Given the description of an element on the screen output the (x, y) to click on. 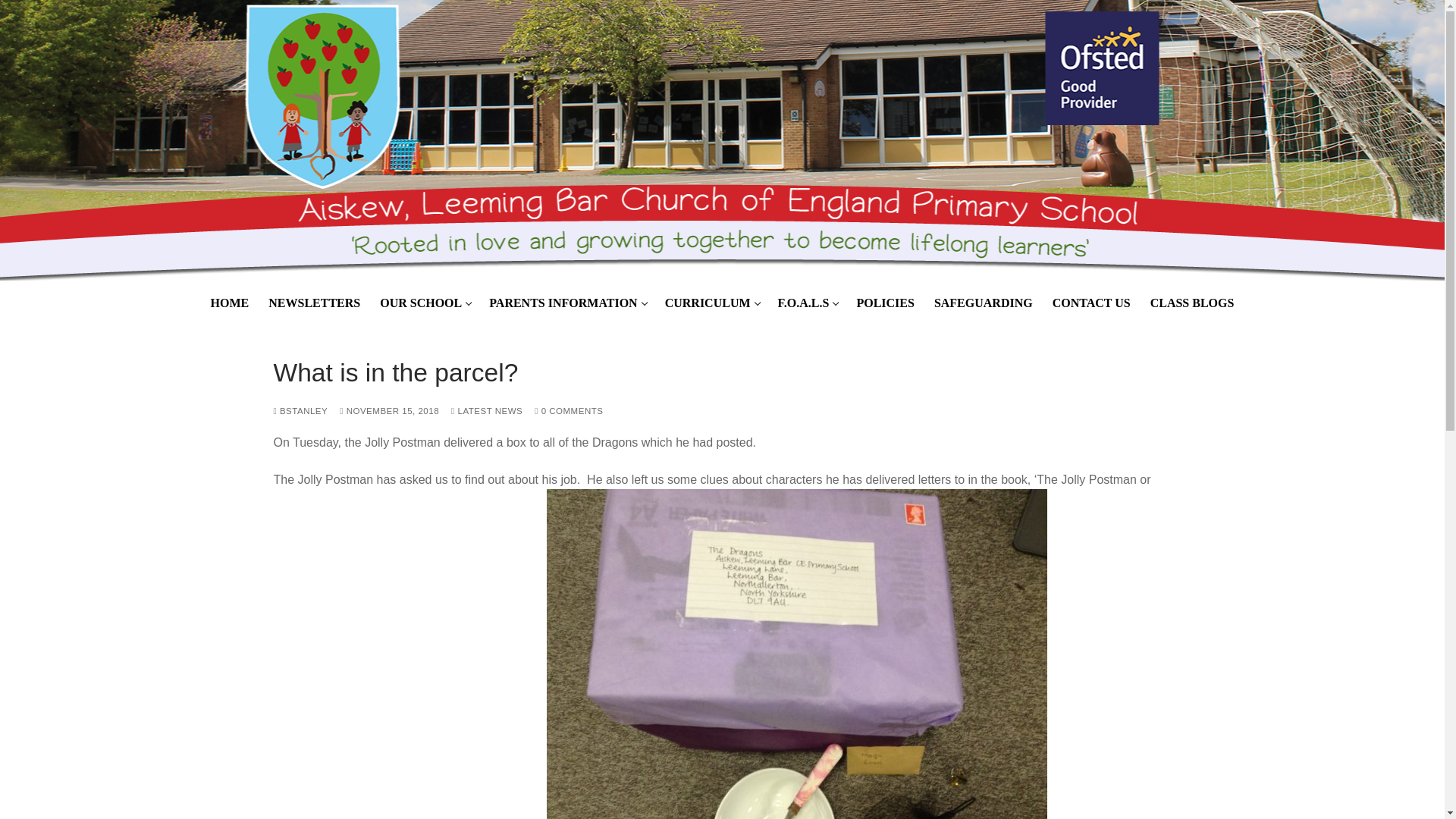
HOME (424, 303)
NEWSLETTERS (566, 303)
